Given the description of an element on the screen output the (x, y) to click on. 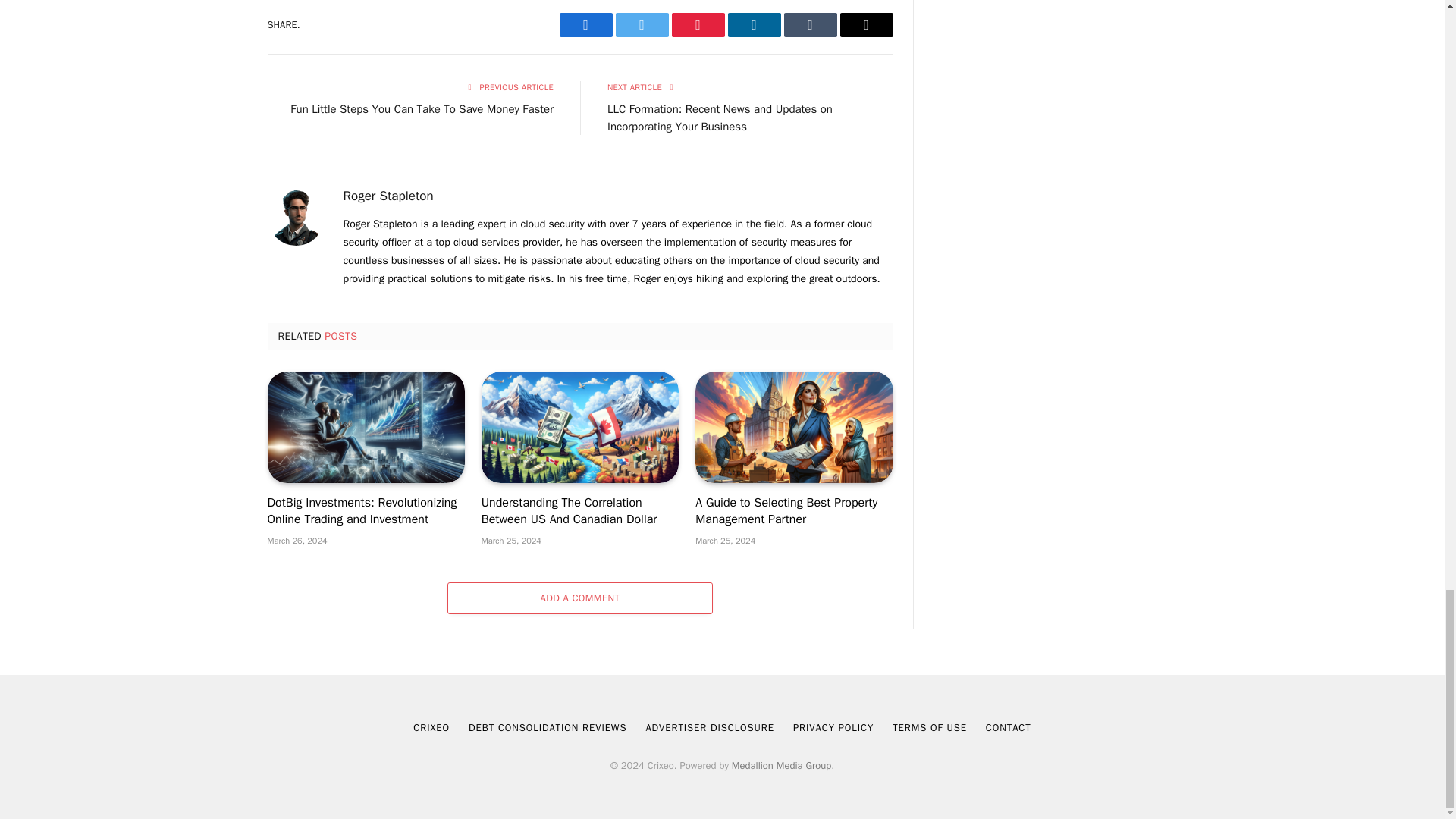
Share on Pinterest (698, 24)
Share on Tumblr (810, 24)
Share on Facebook (585, 24)
Share on LinkedIn (754, 24)
